Given the description of an element on the screen output the (x, y) to click on. 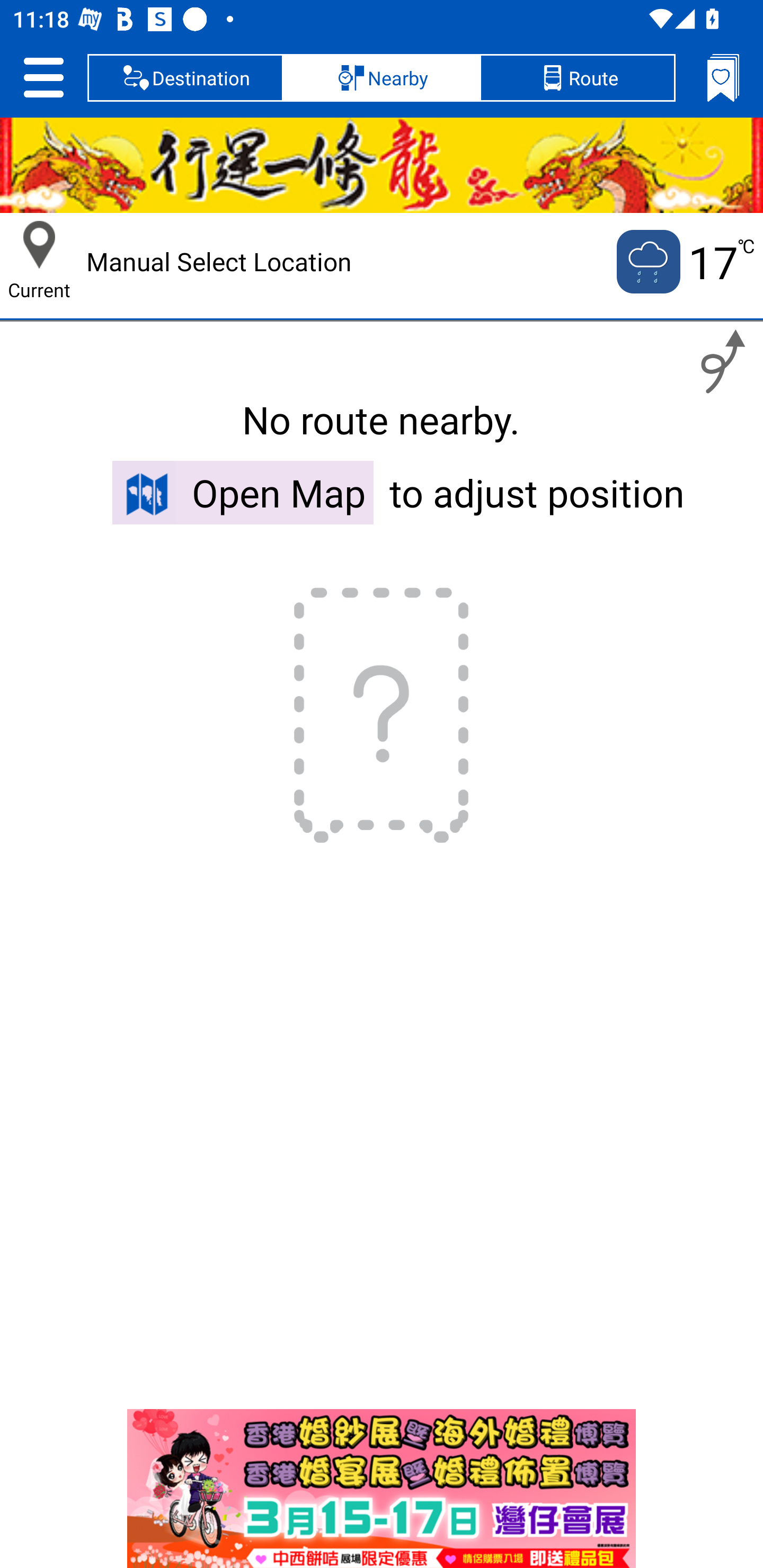
Destination (185, 77)
Nearby, selected (381, 77)
Route (577, 77)
Bookmarks (723, 77)
Setting (43, 77)
Lunar New Year 2024 (381, 165)
Current Location (38, 244)
Current temputure is  17  no 17 ℃ (684, 261)
Open Map (242, 491)
index (381, 1488)
